Given the description of an element on the screen output the (x, y) to click on. 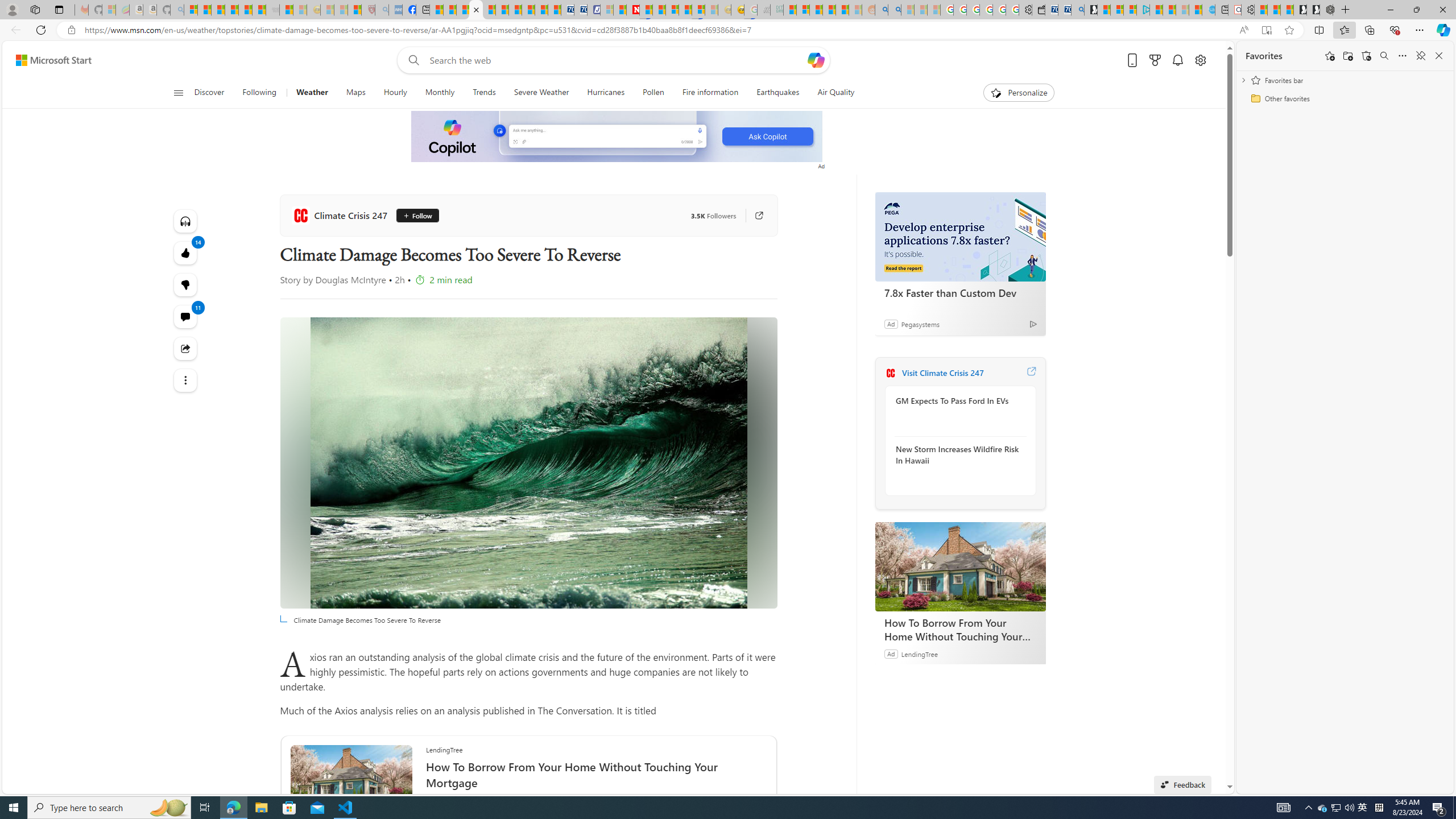
New Storm Increases Wildfire Risk In Hawaii (957, 454)
Fire information (710, 92)
Hurricanes (605, 92)
Visit Climate Crisis 247 website (1031, 372)
Bing Real Estate - Home sales and rental listings (1077, 9)
